Given the description of an element on the screen output the (x, y) to click on. 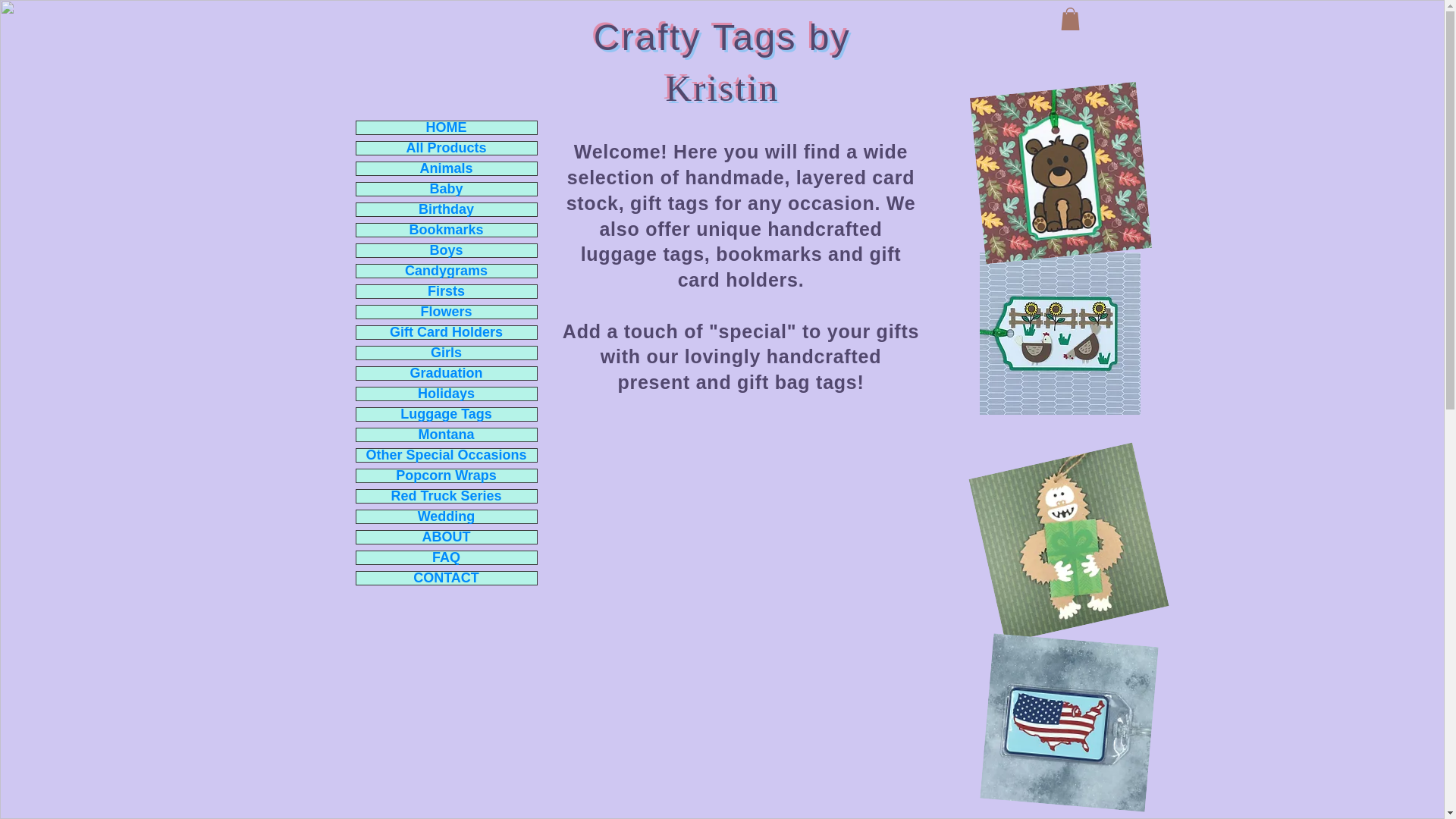
Firsts (446, 291)
Crafty (647, 37)
Red Truck Series (446, 495)
Baby (446, 188)
Popcorn Wraps (446, 475)
Girls (446, 352)
HOME (446, 127)
Luggage Tags (446, 413)
Montana (446, 434)
Other Special Occasions (446, 454)
Bookmarks (446, 229)
Flowers (446, 311)
Gift Card Holders (446, 332)
All Products (446, 147)
Graduation (446, 373)
